Given the description of an element on the screen output the (x, y) to click on. 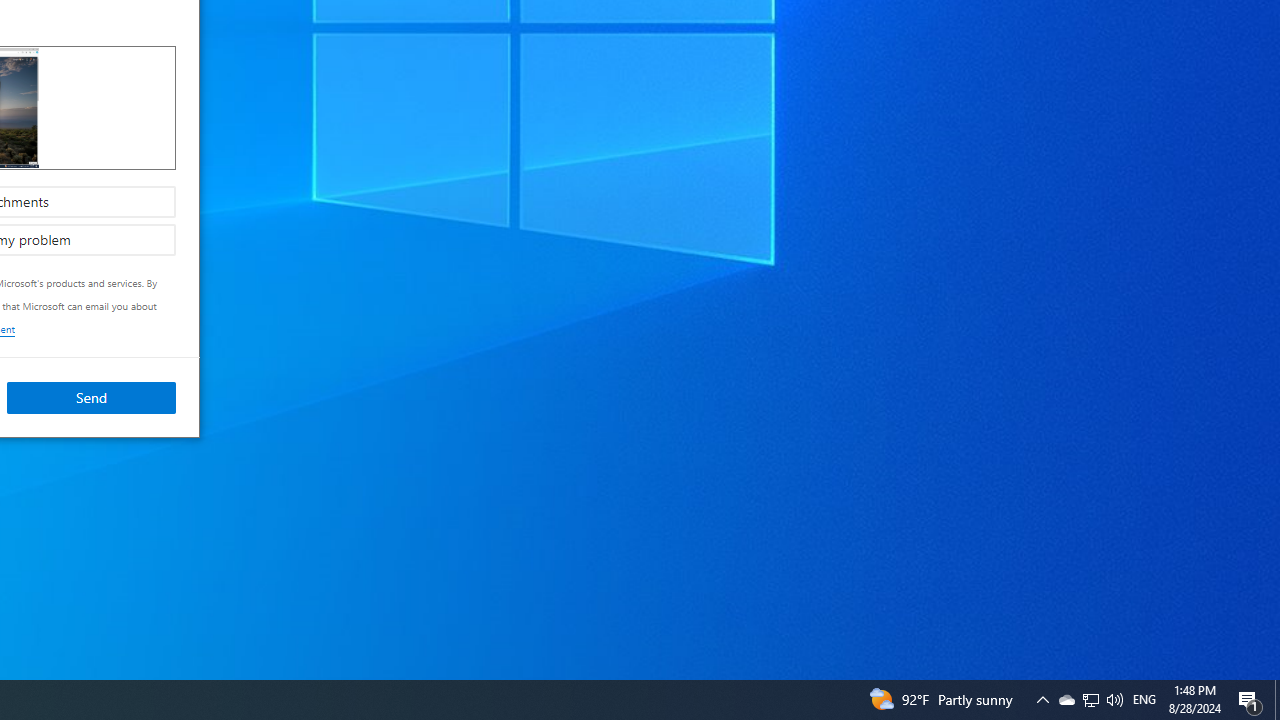
Tray Input Indicator - English (United States) (1066, 699)
Send (1144, 699)
Notification Chevron (91, 396)
Q2790: 100% (1091, 699)
Action Center, 1 new notification (1042, 699)
User Promoted Notification Area (1114, 699)
Show desktop (1250, 699)
